Given the description of an element on the screen output the (x, y) to click on. 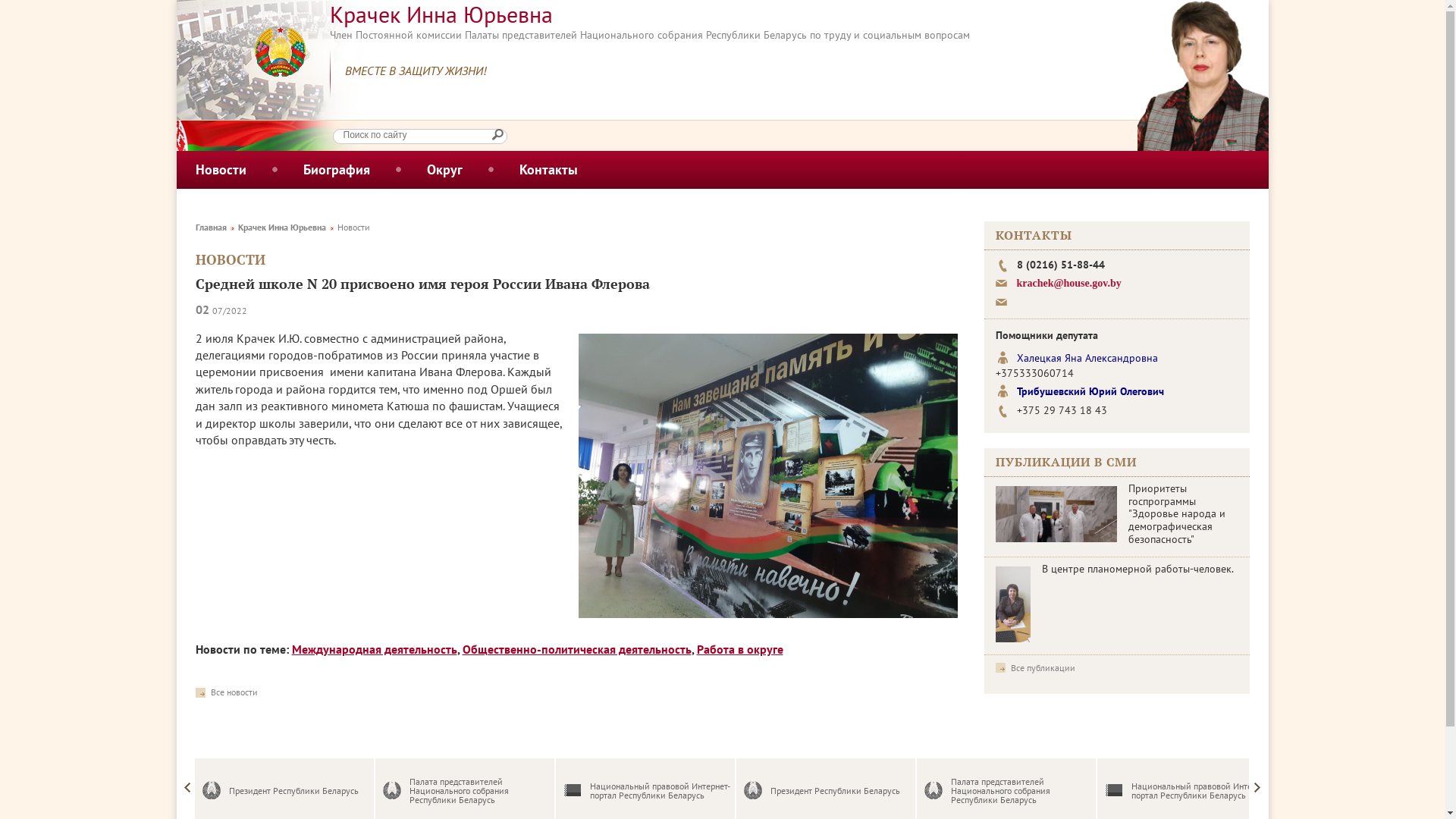
krachek@house.gov.by Element type: text (1068, 282)
